Given the description of an element on the screen output the (x, y) to click on. 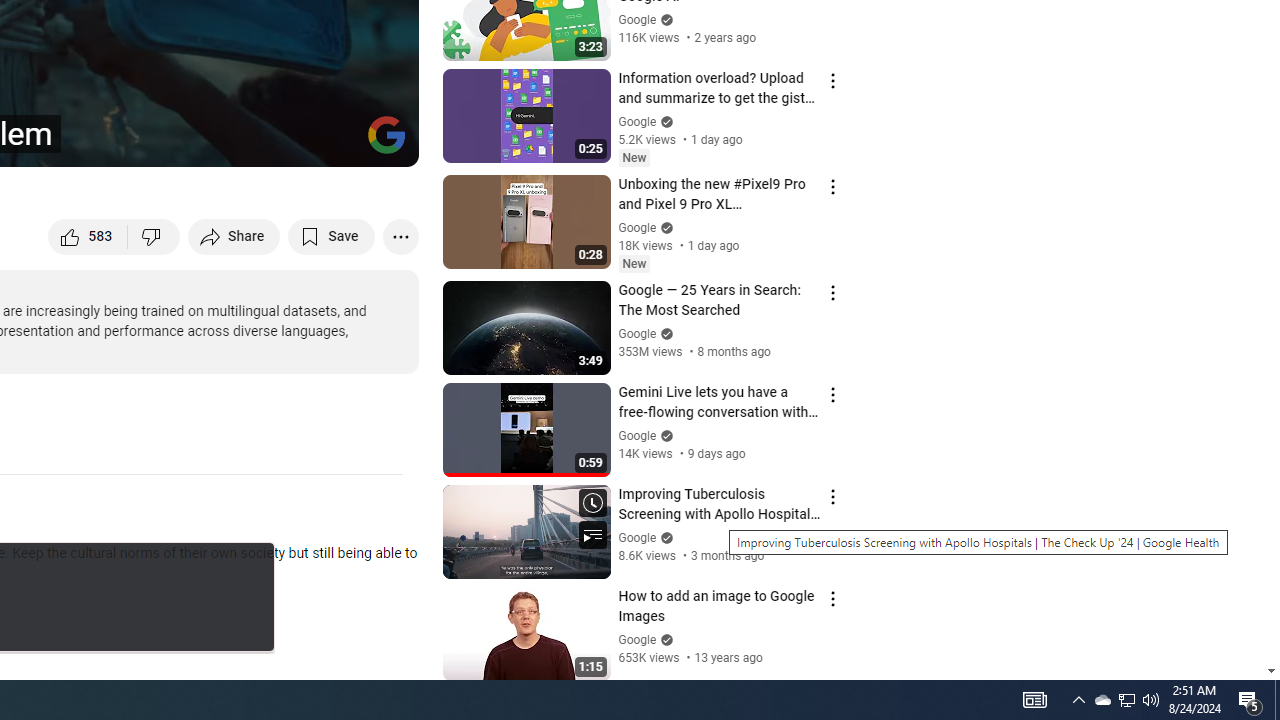
Dislike this video (154, 236)
Autoplay is on (141, 142)
Save to playlist (331, 236)
Full screen (f) (382, 142)
Subtitles/closed captions unavailable (190, 142)
